Given the description of an element on the screen output the (x, y) to click on. 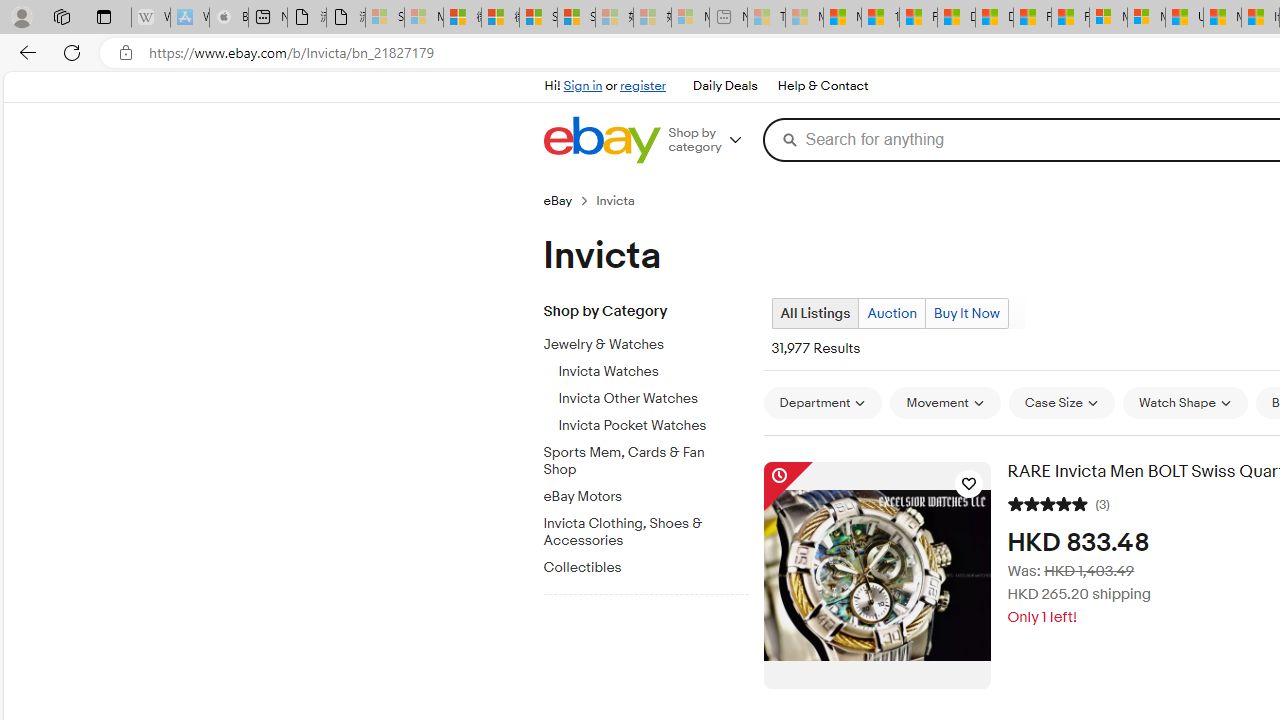
Department (822, 403)
Invicta Pocket Watches (653, 426)
Buy It Now (966, 313)
All Listings Current view (814, 313)
Case Size (1061, 403)
Invicta Pocket Watches (653, 422)
Invicta Clothing, Shoes & Accessories (637, 532)
Microsoft account | Account Checkup - Sleeping (690, 17)
